Given the description of an element on the screen output the (x, y) to click on. 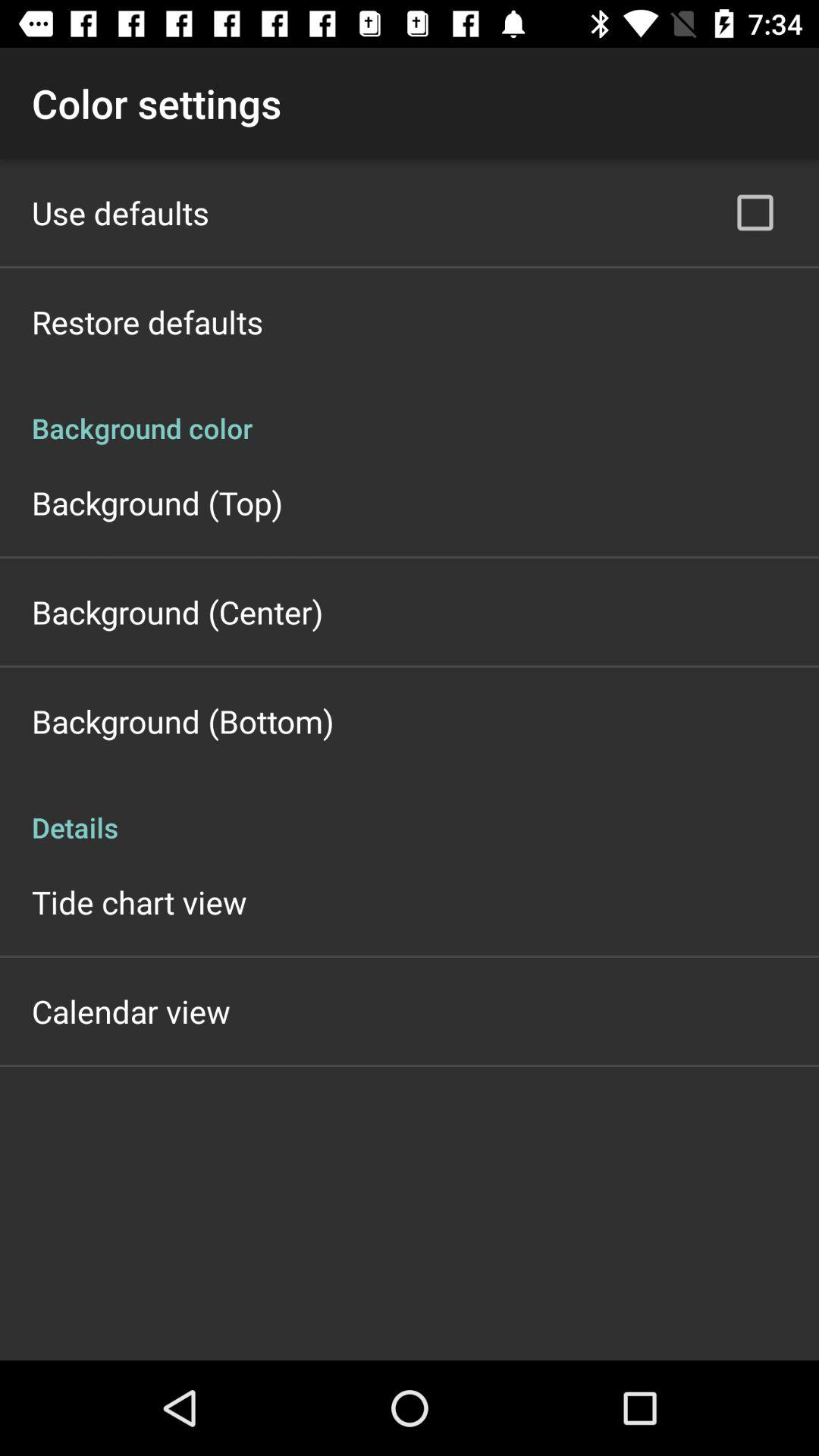
select background (center) icon (177, 611)
